Given the description of an element on the screen output the (x, y) to click on. 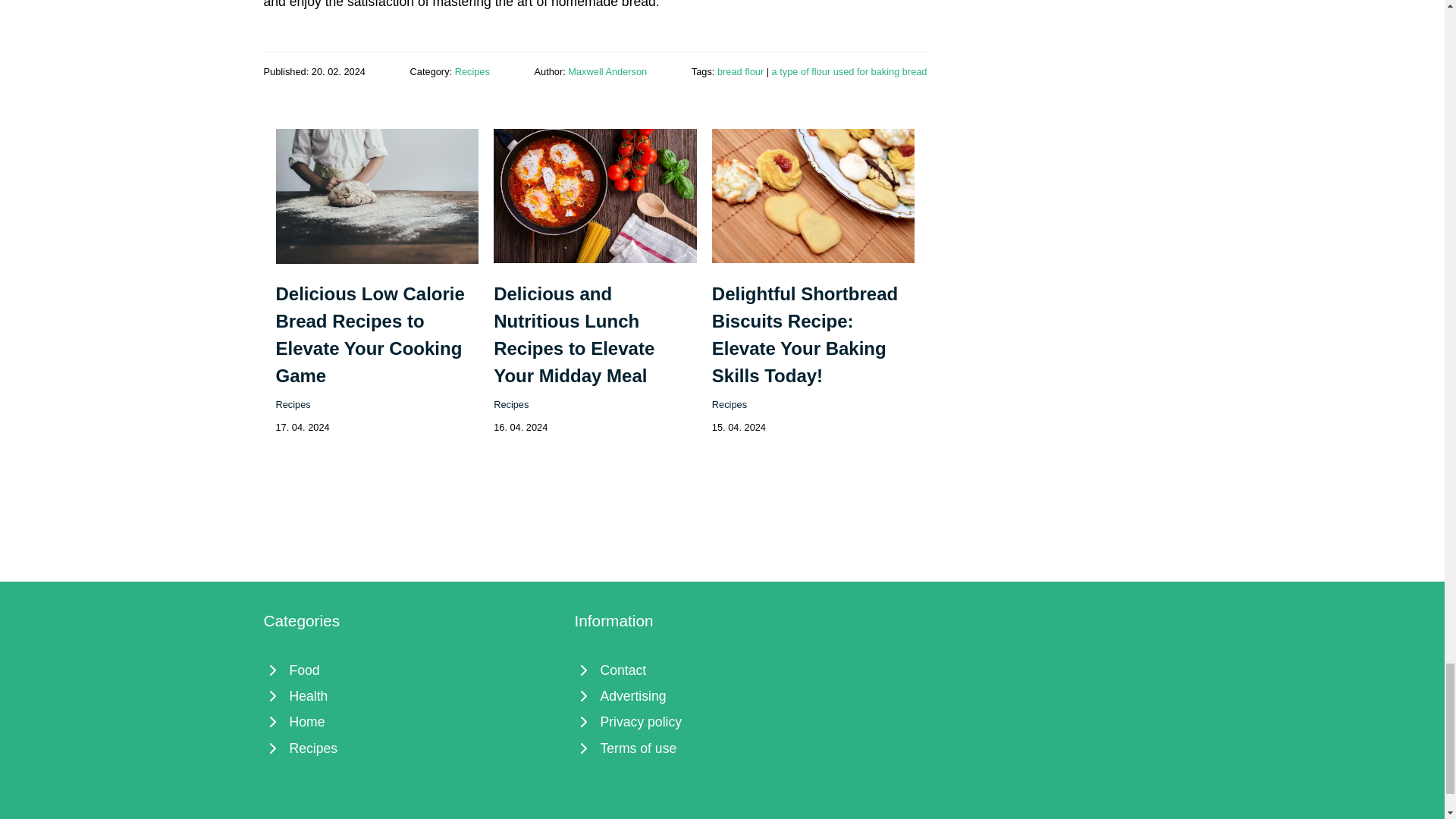
Recipes (728, 404)
bread flour (739, 71)
Recipes (411, 748)
Contact (722, 670)
Recipes (510, 404)
a type of flour used for baking bread (849, 71)
Privacy policy (722, 721)
